Given the description of an element on the screen output the (x, y) to click on. 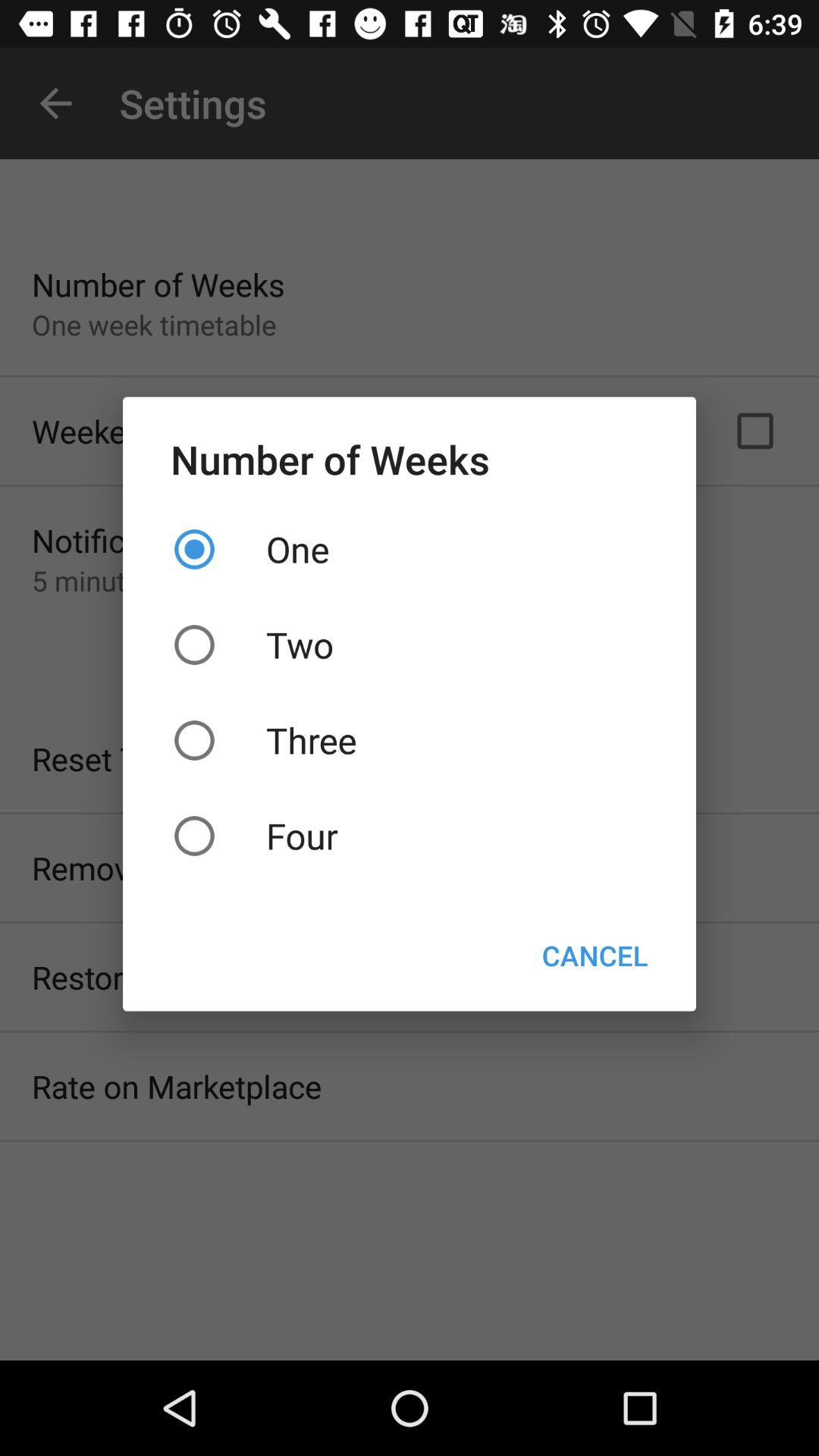
launch button on the right (595, 955)
